Given the description of an element on the screen output the (x, y) to click on. 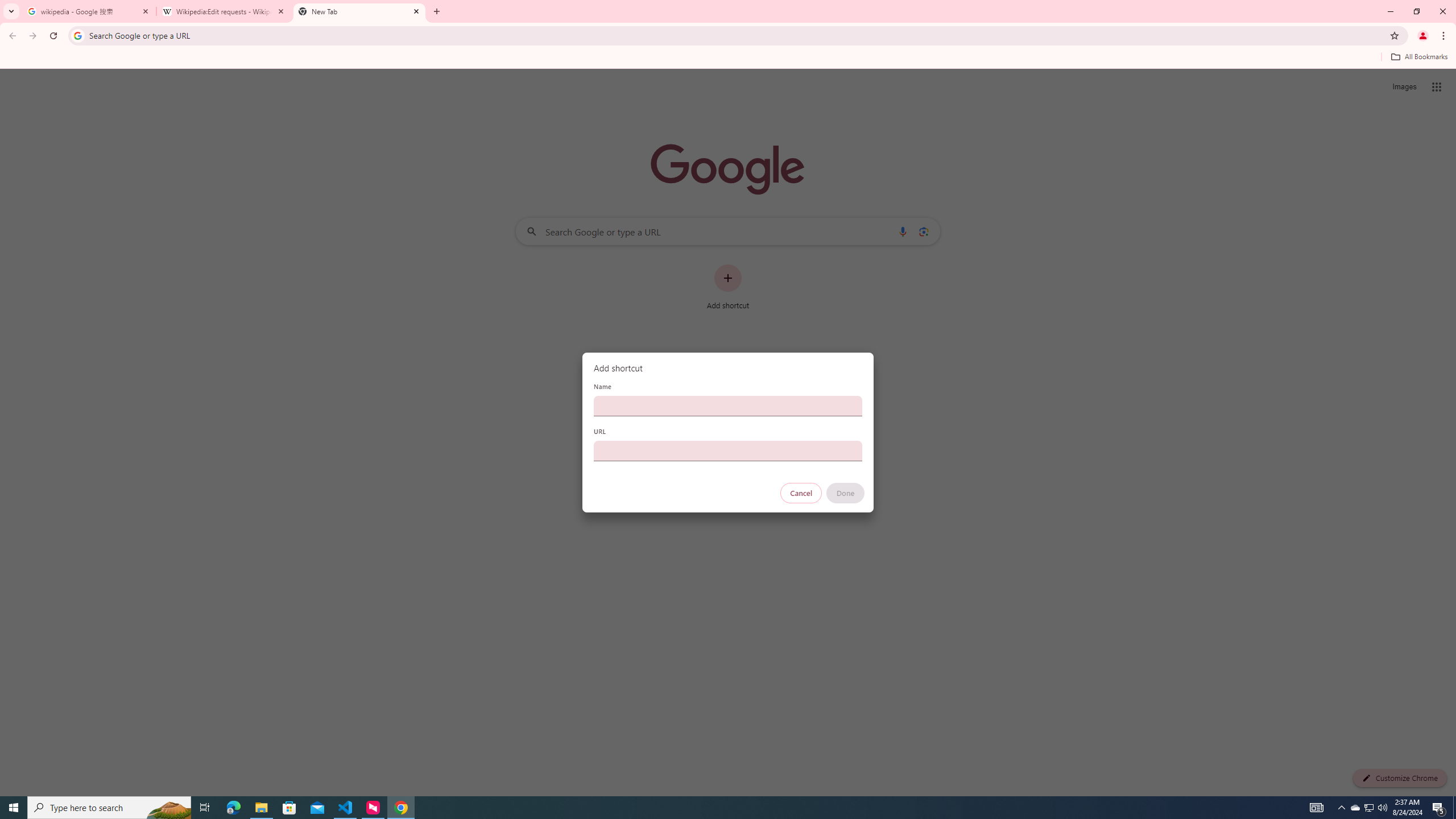
Chrome (1445, 35)
Search icon (77, 35)
Cancel (801, 493)
Bookmark this tab (1393, 35)
Back (10, 35)
Restore (1416, 11)
System (6, 6)
Forward (32, 35)
New Tab (359, 11)
URL (727, 450)
New Tab (436, 11)
Done (845, 493)
Search tabs (10, 11)
Name (727, 405)
